Given the description of an element on the screen output the (x, y) to click on. 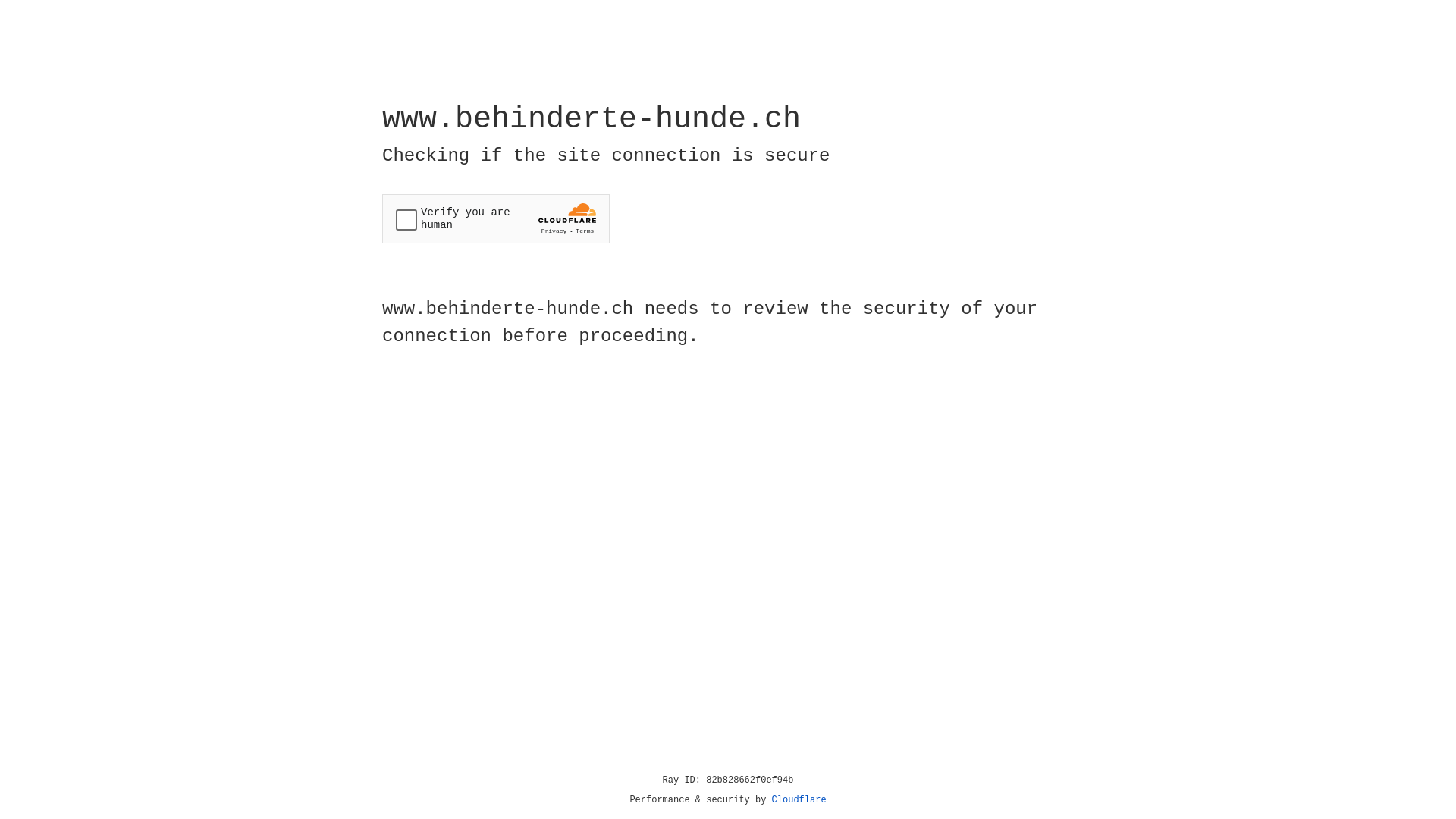
Widget containing a Cloudflare security challenge Element type: hover (495, 218)
Cloudflare Element type: text (798, 799)
